Given the description of an element on the screen output the (x, y) to click on. 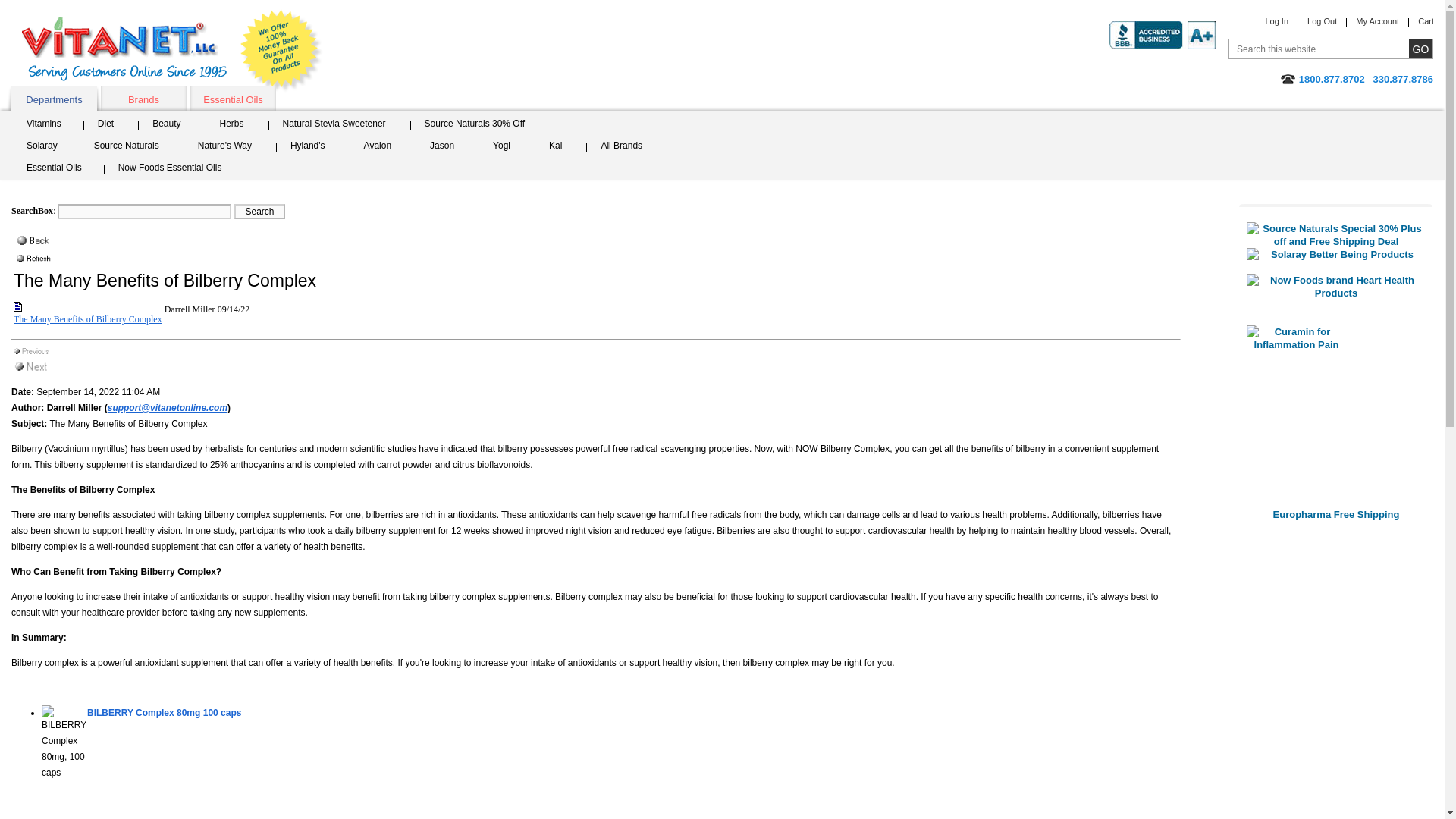
  Search   (259, 211)
curcumin for inflammation pain (1335, 415)
Log In (1276, 20)
Diet (110, 125)
Source Naturals (132, 147)
Cart (1426, 20)
Kal (560, 147)
Solaray (49, 147)
Now Foods Essential Oils (175, 169)
Brands (143, 97)
Yogi (507, 147)
Vitamins (51, 125)
Natural Stevia Sweetener (338, 125)
Essential Oils (61, 169)
Jason (446, 147)
